Given the description of an element on the screen output the (x, y) to click on. 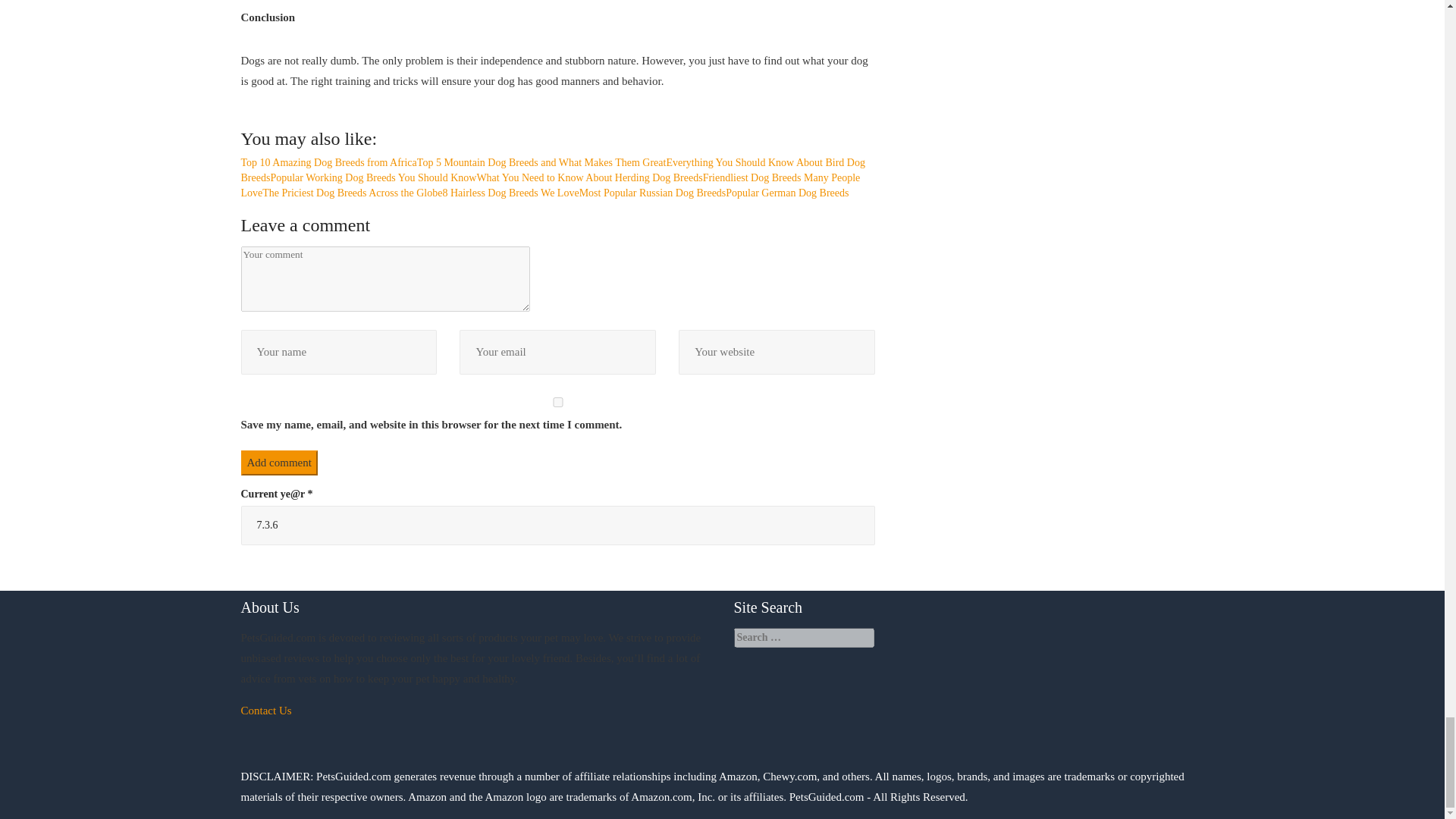
7.3.6 (558, 525)
Contact us (266, 710)
yes (558, 402)
